Given the description of an element on the screen output the (x, y) to click on. 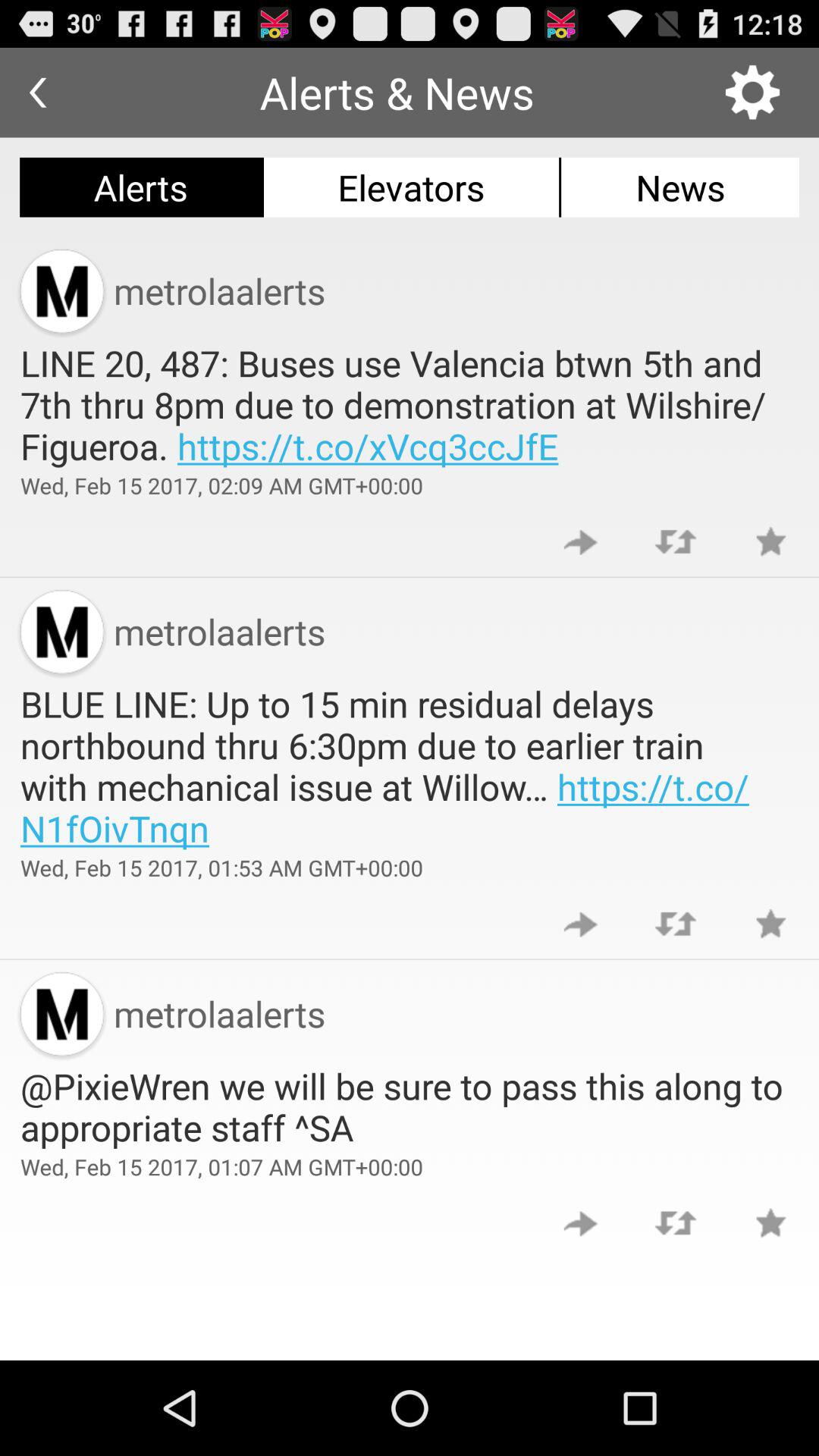
turn off the icon to the left of alerts & news icon (37, 92)
